Given the description of an element on the screen output the (x, y) to click on. 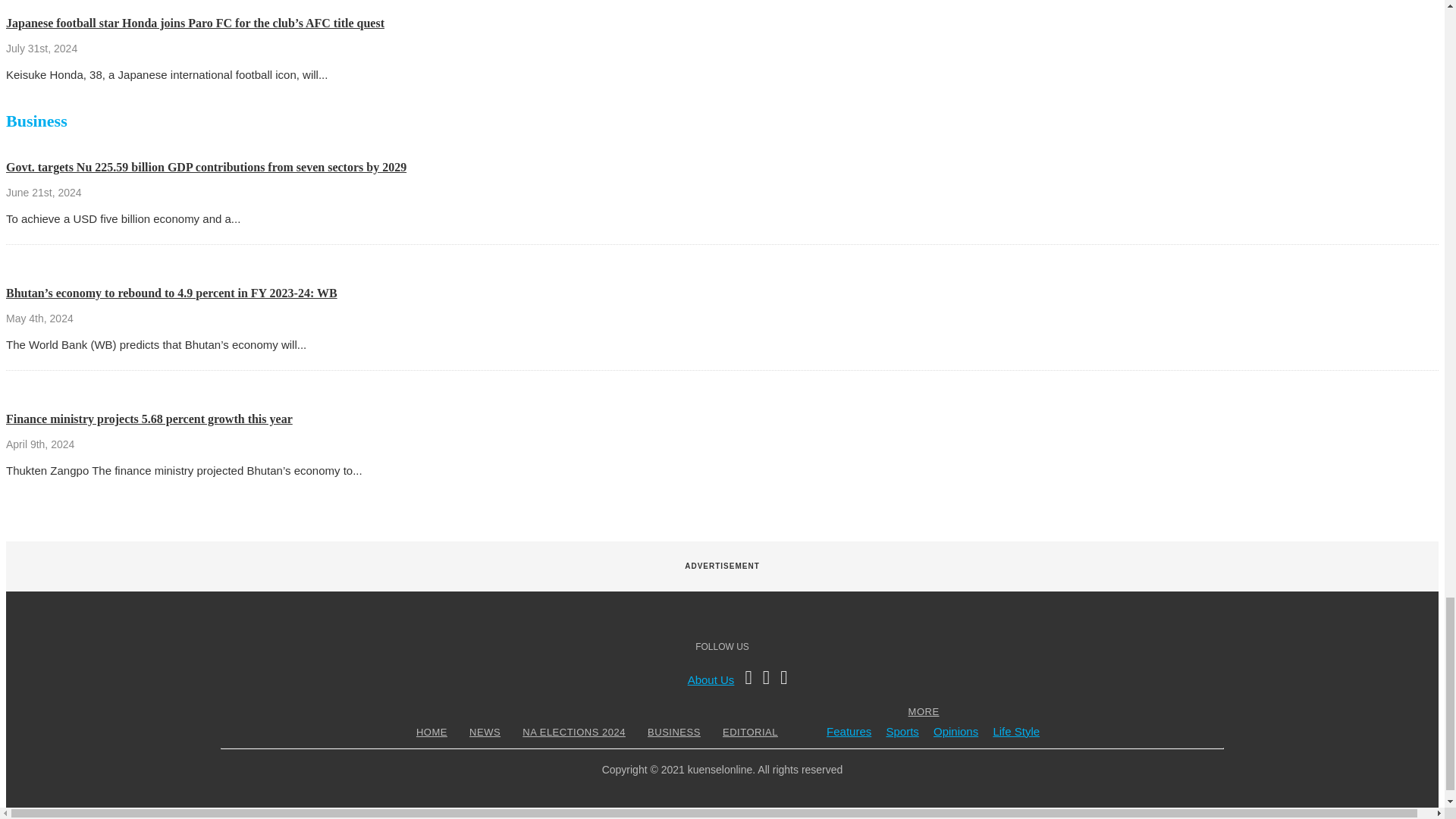
EDITORIAL (750, 731)
BUSINESS (673, 731)
NEWS (484, 731)
HOME (431, 731)
MORE (923, 711)
Finance ministry projects 5.68 percent growth this year (148, 418)
NA ELECTIONS 2024 (573, 731)
About Us (711, 679)
